Given the description of an element on the screen output the (x, y) to click on. 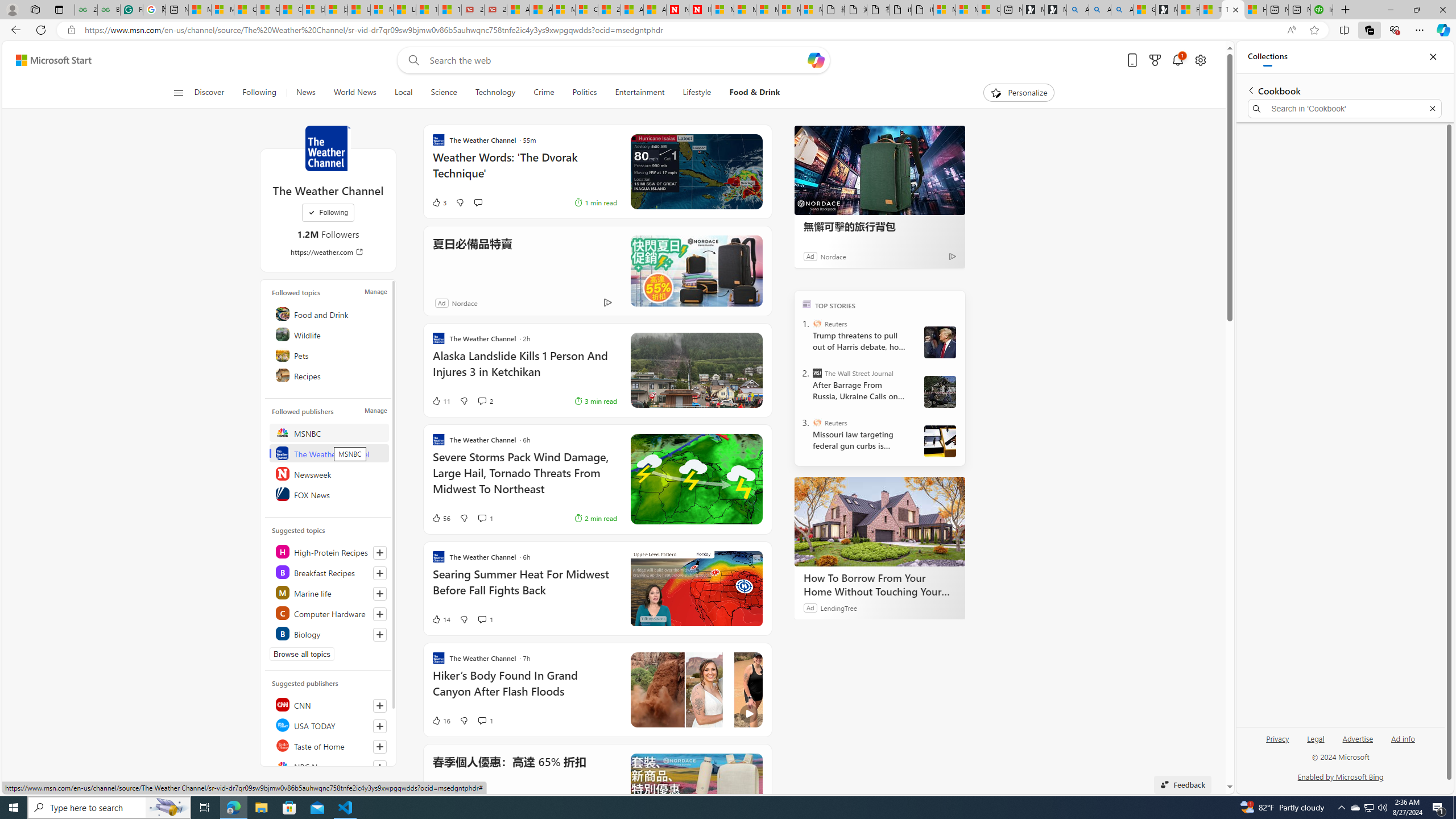
FOX News (328, 493)
21 Movies That Outdid the Books They Were Based On (495, 9)
Recipes (328, 375)
